Given the description of an element on the screen output the (x, y) to click on. 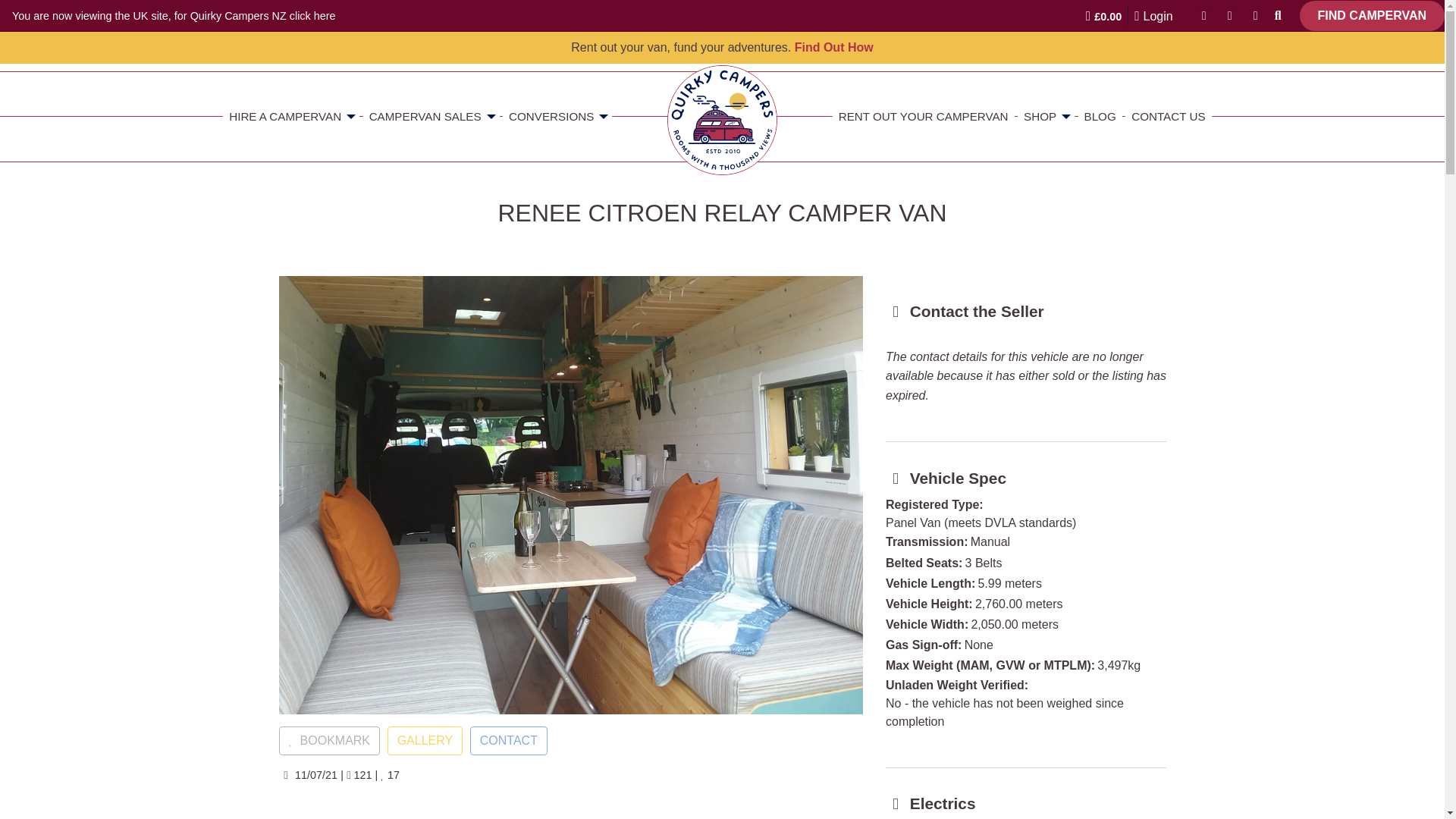
17 bookmarks (389, 775)
CONVERSIONS (556, 115)
CAMPERVAN SALES (430, 115)
Find Out How (833, 47)
Quirky Campers homepage (721, 119)
HIRE A CAMPERVAN (290, 115)
RENT OUT YOUR CAMPERVAN (923, 115)
121 views (358, 775)
Login (1153, 15)
SHOP (1045, 115)
